Given the description of an element on the screen output the (x, y) to click on. 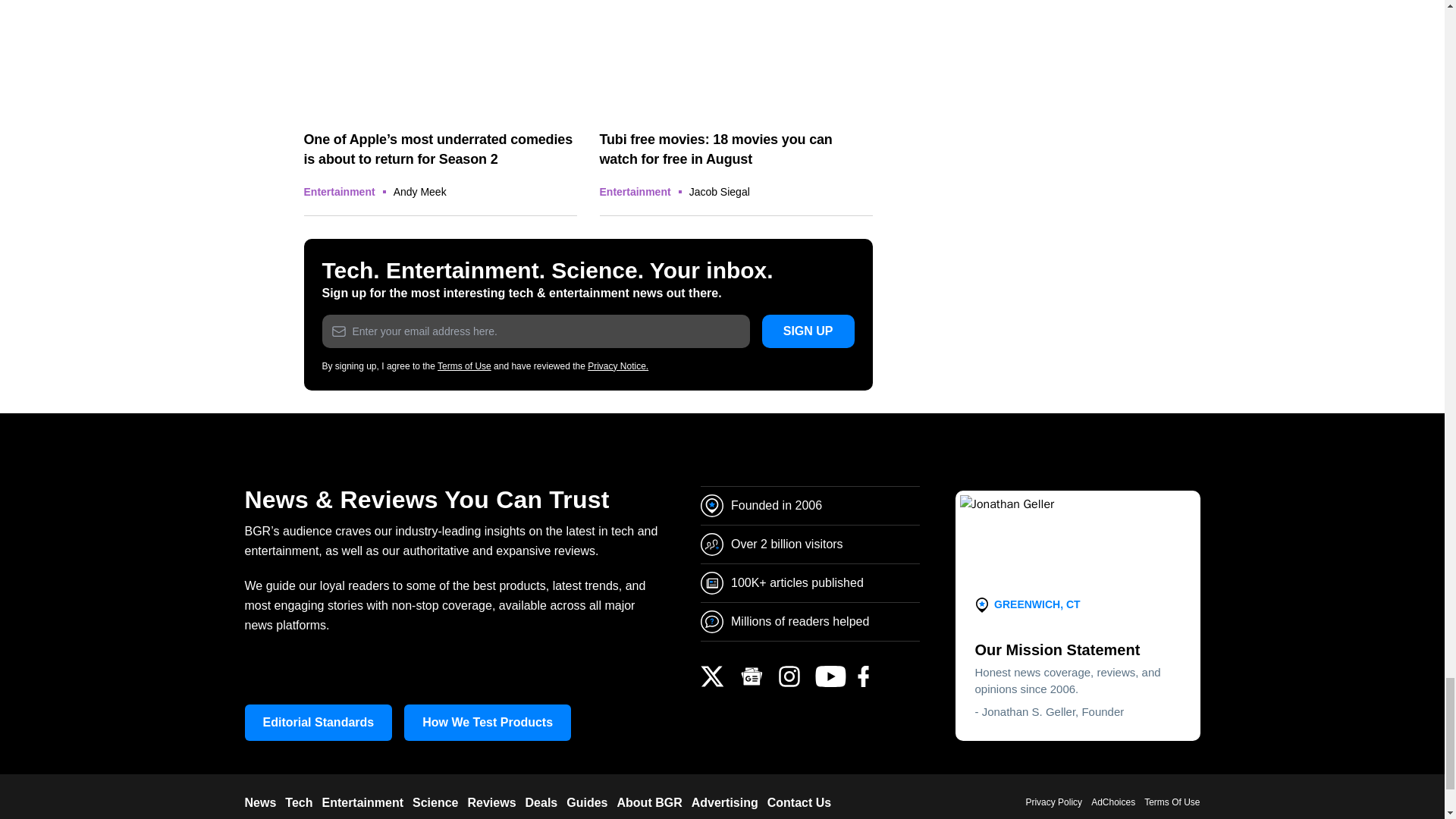
Posts by Andy Meek (419, 191)
Bad Sisters (439, 57)
Tubi movies (735, 57)
Posts by Jacob Siegal (718, 191)
